Given the description of an element on the screen output the (x, y) to click on. 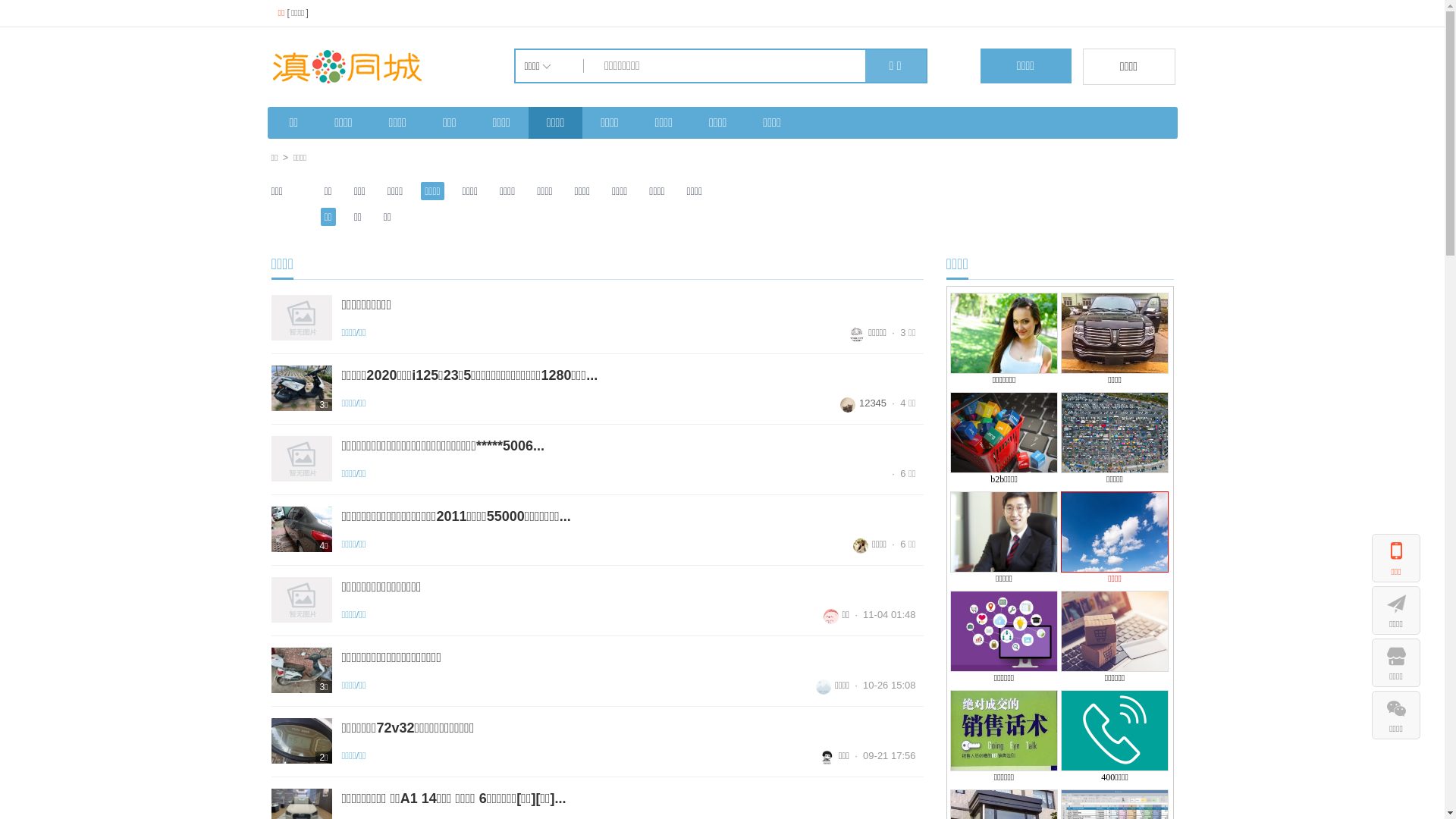
12345 Element type: text (863, 402)
